Given the description of an element on the screen output the (x, y) to click on. 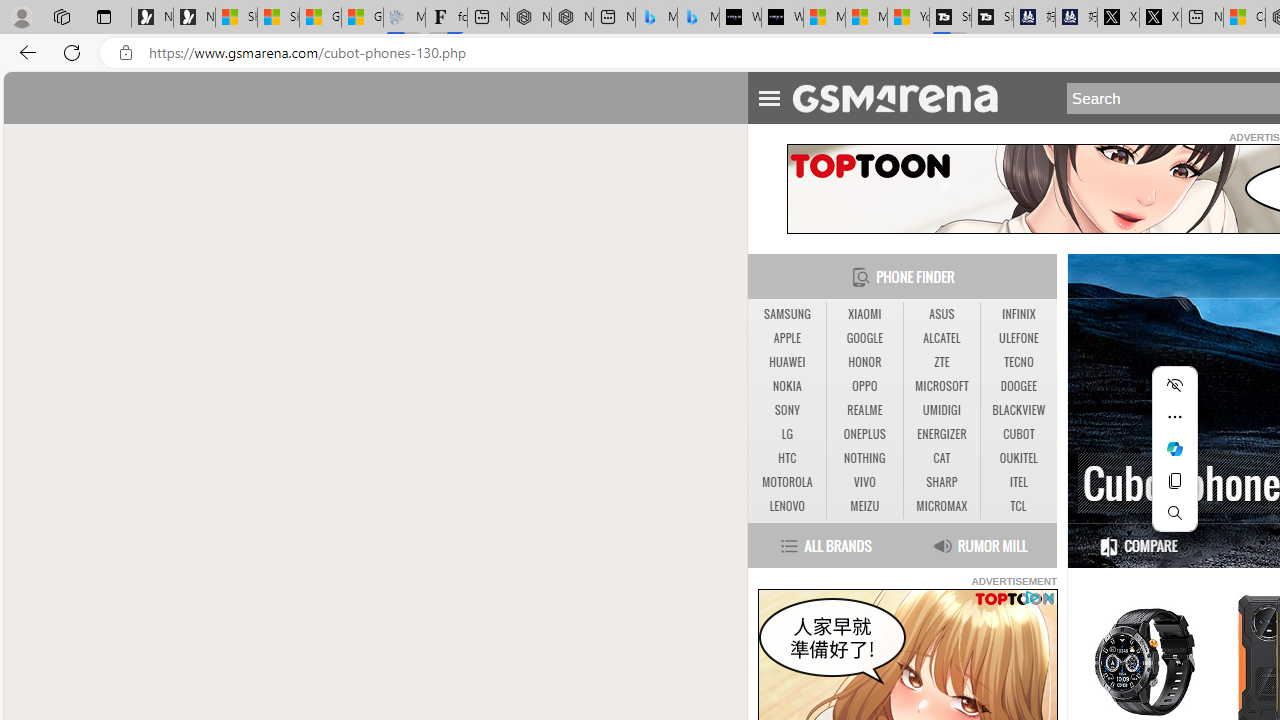
More actions (1174, 416)
Streaming Coverage | T3 (950, 17)
SONY (786, 411)
MICROSOFT (941, 386)
ALCATEL (941, 338)
REALME (864, 411)
ULEFONE (1018, 339)
MEIZU (863, 506)
UMIDIGI (941, 411)
Microsoft Start (866, 17)
NOTHING (864, 458)
